Given the description of an element on the screen output the (x, y) to click on. 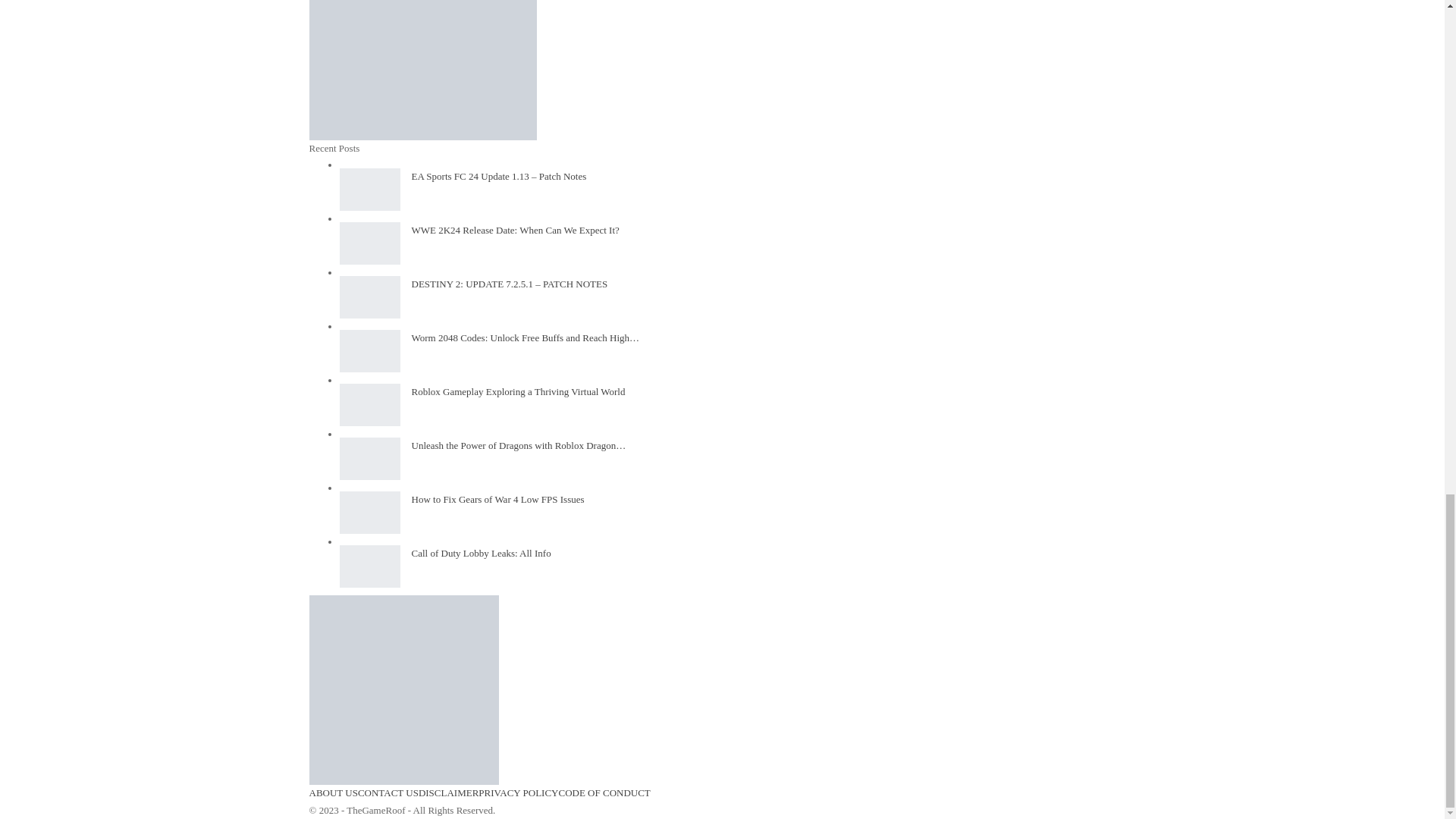
Worm 2048 Codes: Unlock Free Buffs and Reach High Scores! (369, 351)
Call of Duty Lobby Leaks: All Info (369, 566)
How to Fix Gears of War 4 Low FPS Issues (369, 512)
Roblox Gameplay Exploring a Thriving Virtual World (369, 404)
WWE 2K24 Release Date: When Can We Expect It? (369, 242)
